Given the description of an element on the screen output the (x, y) to click on. 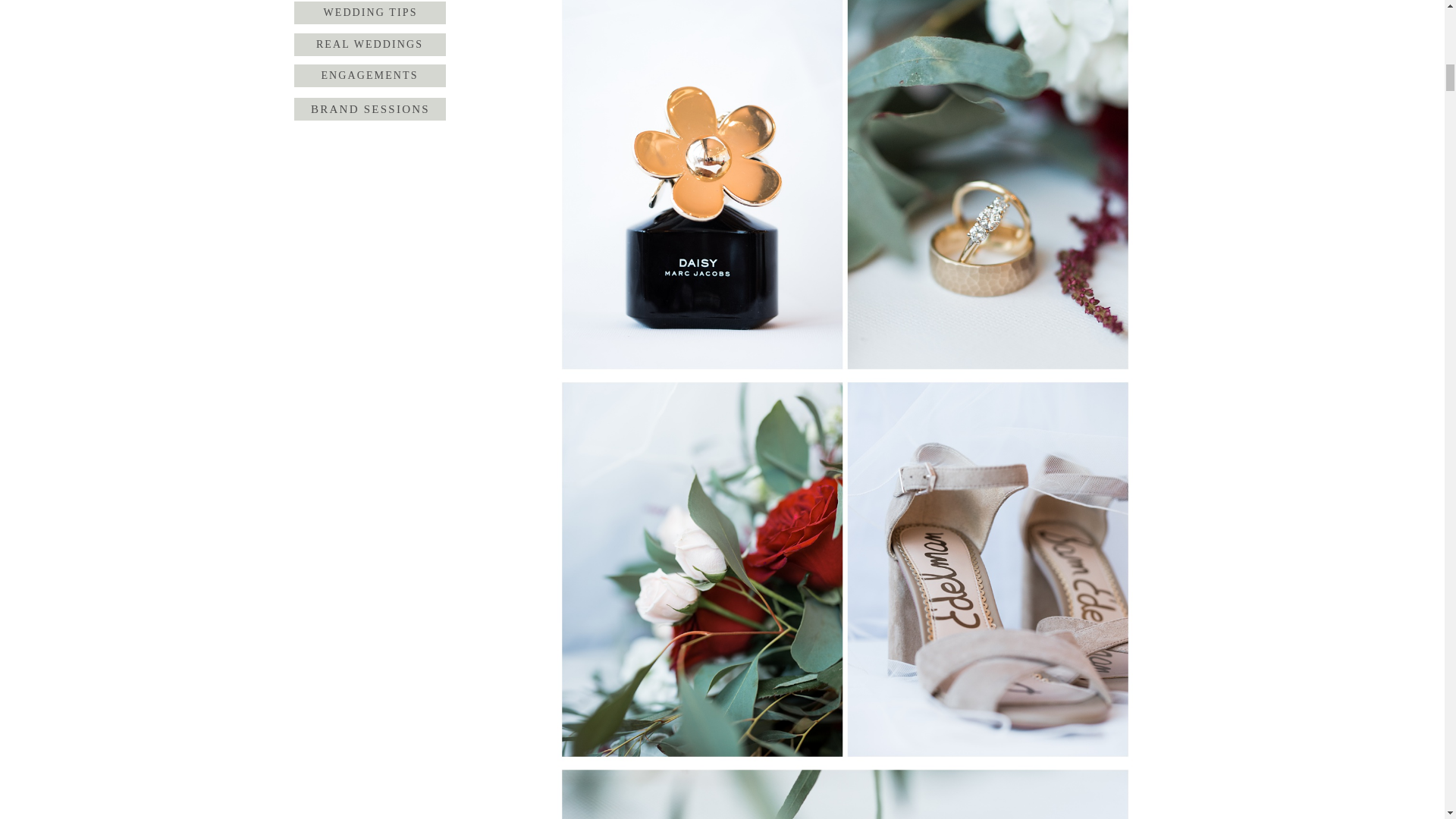
BRAND SESSIONS (370, 108)
WEDDING TIPS (370, 12)
REAL WEDDINGS (369, 44)
ENGAGEMENTS (369, 75)
